Given the description of an element on the screen output the (x, y) to click on. 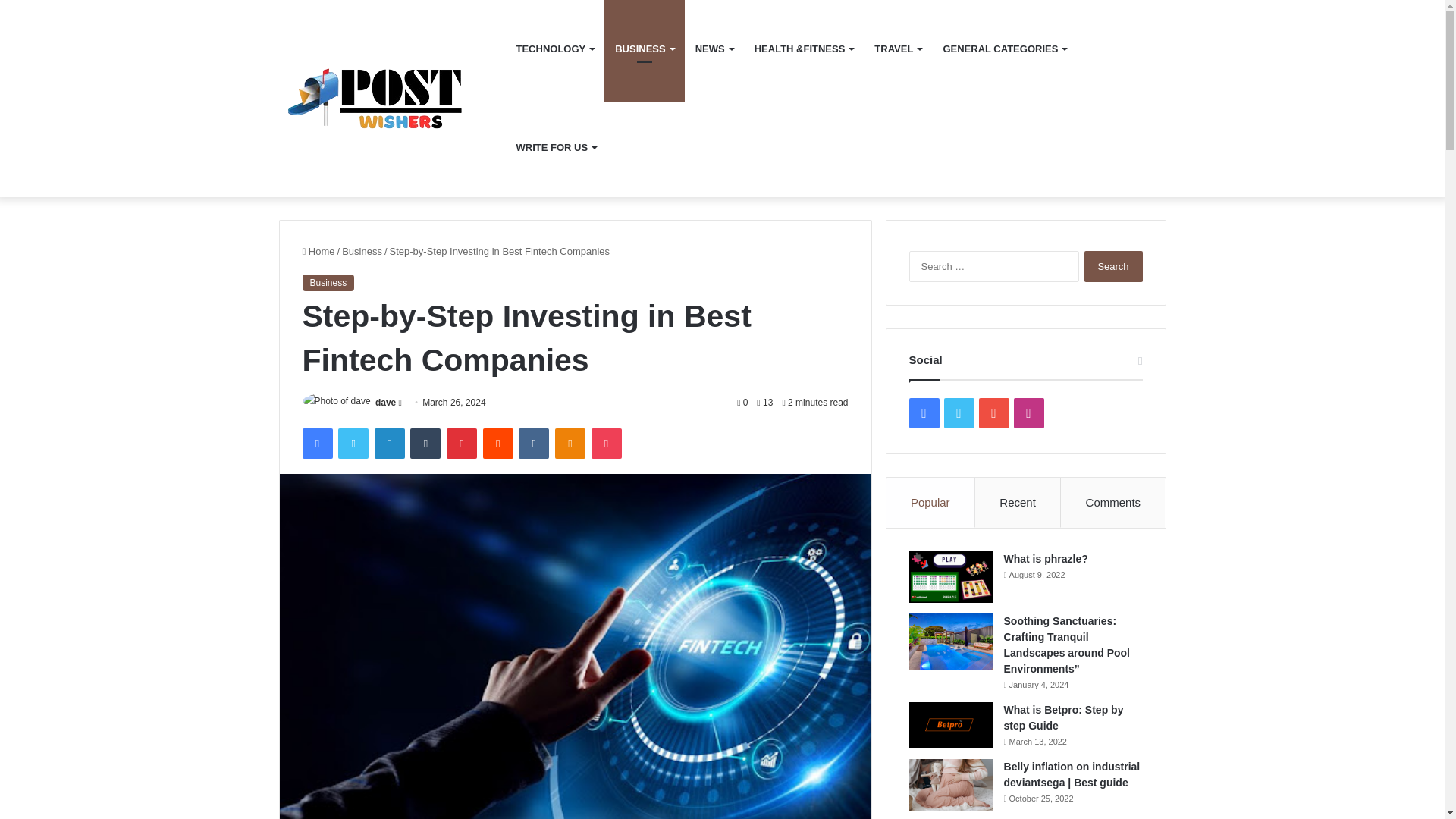
VKontakte (533, 443)
Pinterest (461, 443)
GENERAL CATEGORIES (1004, 49)
Tumblr (425, 443)
Reddit (498, 443)
Facebook (316, 443)
Twitter (352, 443)
Postwishers.com (392, 98)
TECHNOLOGY (554, 49)
Home (317, 251)
dave (385, 402)
dave (385, 402)
Search (1113, 265)
Odnoklassniki (569, 443)
Search (1113, 265)
